Given the description of an element on the screen output the (x, y) to click on. 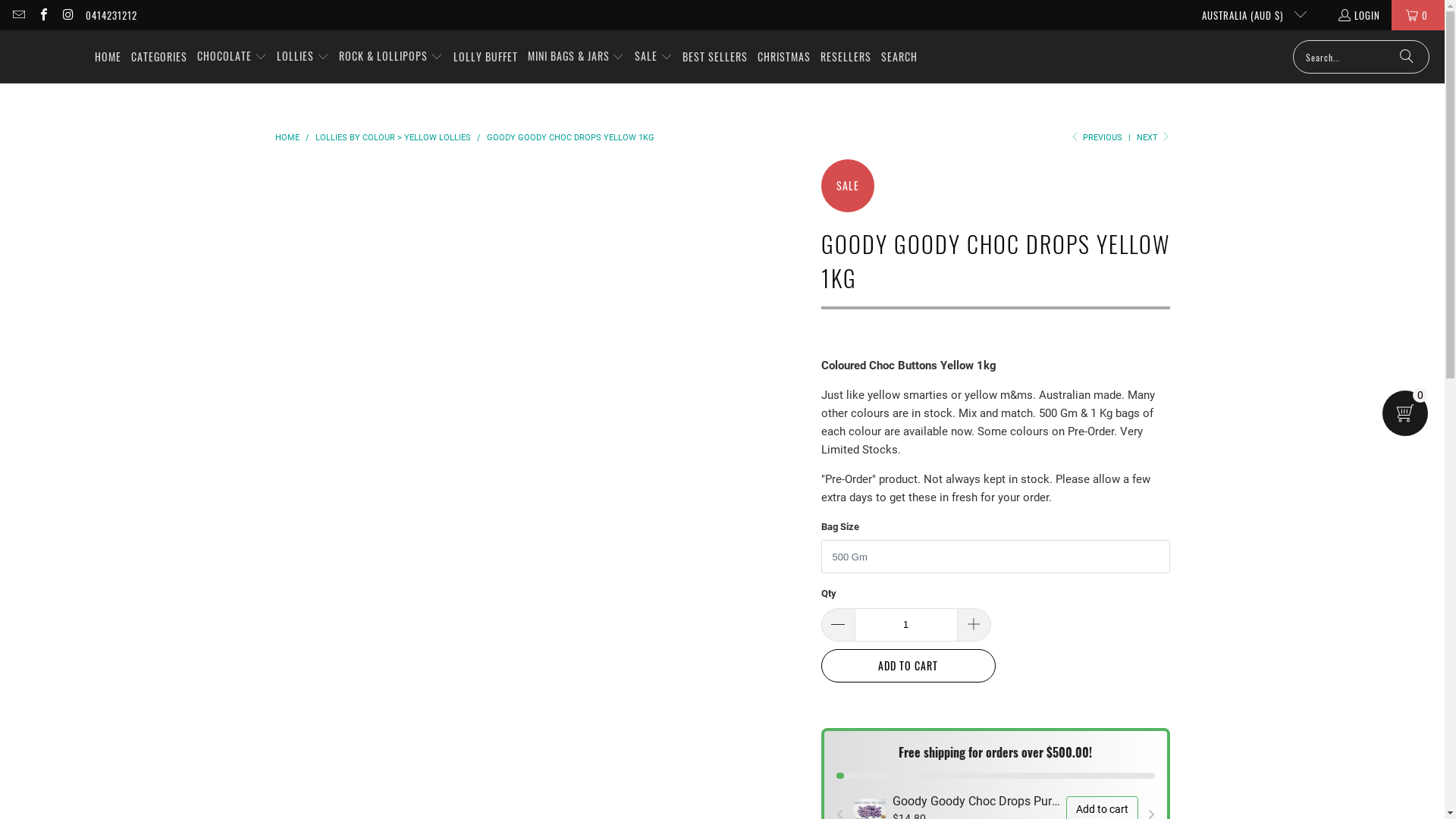
LOLLY BUFFET Element type: text (485, 56)
HOME Element type: text (287, 137)
CATEGORIES Element type: text (159, 56)
Goody Goody Choc Drops Purple 500 Gm or 1 Kg Element type: text (975, 801)
AUSTRALIA (AUD $) Element type: text (1247, 15)
Goody Goody Gum Drops  on Instagram Element type: hover (67, 14)
0414231212 Element type: text (111, 15)
0 Element type: text (1417, 15)
GOODY GOODY CHOC DROPS YELLOW 1KG Element type: text (570, 137)
HOME Element type: text (107, 56)
LOLLIES BY COLOUR > YELLOW LOLLIES Element type: text (394, 137)
Email Goody Goody Gum Drops  Element type: hover (18, 14)
BEST SELLERS Element type: text (714, 56)
PREVIOUS Element type: text (1095, 137)
LOGIN Element type: text (1358, 15)
CHRISTMAS Element type: text (783, 56)
RESELLERS Element type: text (845, 56)
NEXT Element type: text (1153, 137)
Goody Goody Gum Drops  on Facebook Element type: hover (42, 14)
SEARCH Element type: text (899, 56)
ADD TO CART Element type: text (907, 666)
